Given the description of an element on the screen output the (x, y) to click on. 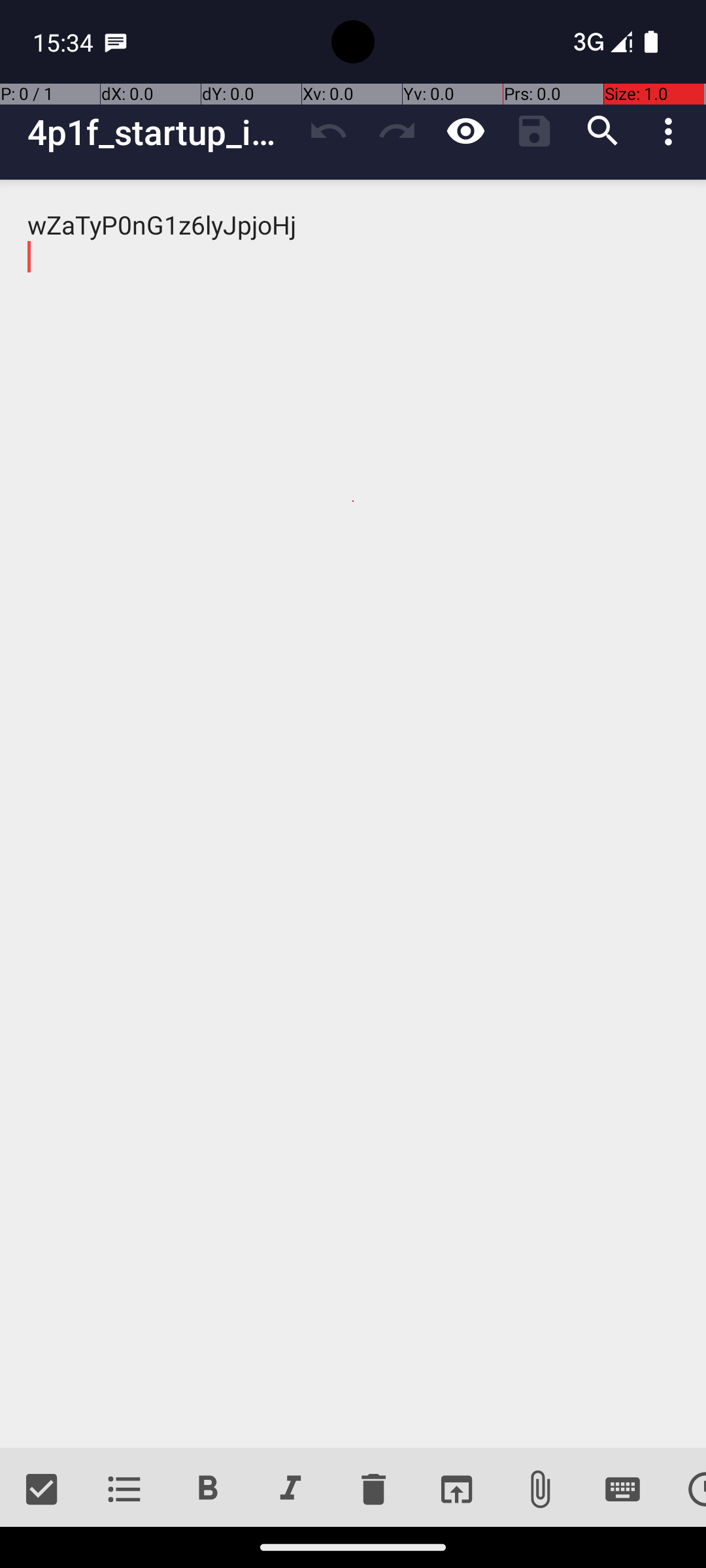
4p1f_startup_ideas_launch Element type: android.widget.TextView (160, 131)
wZaTyP0nG1z6lyJpjoHj
 Element type: android.widget.EditText (353, 813)
